Given the description of an element on the screen output the (x, y) to click on. 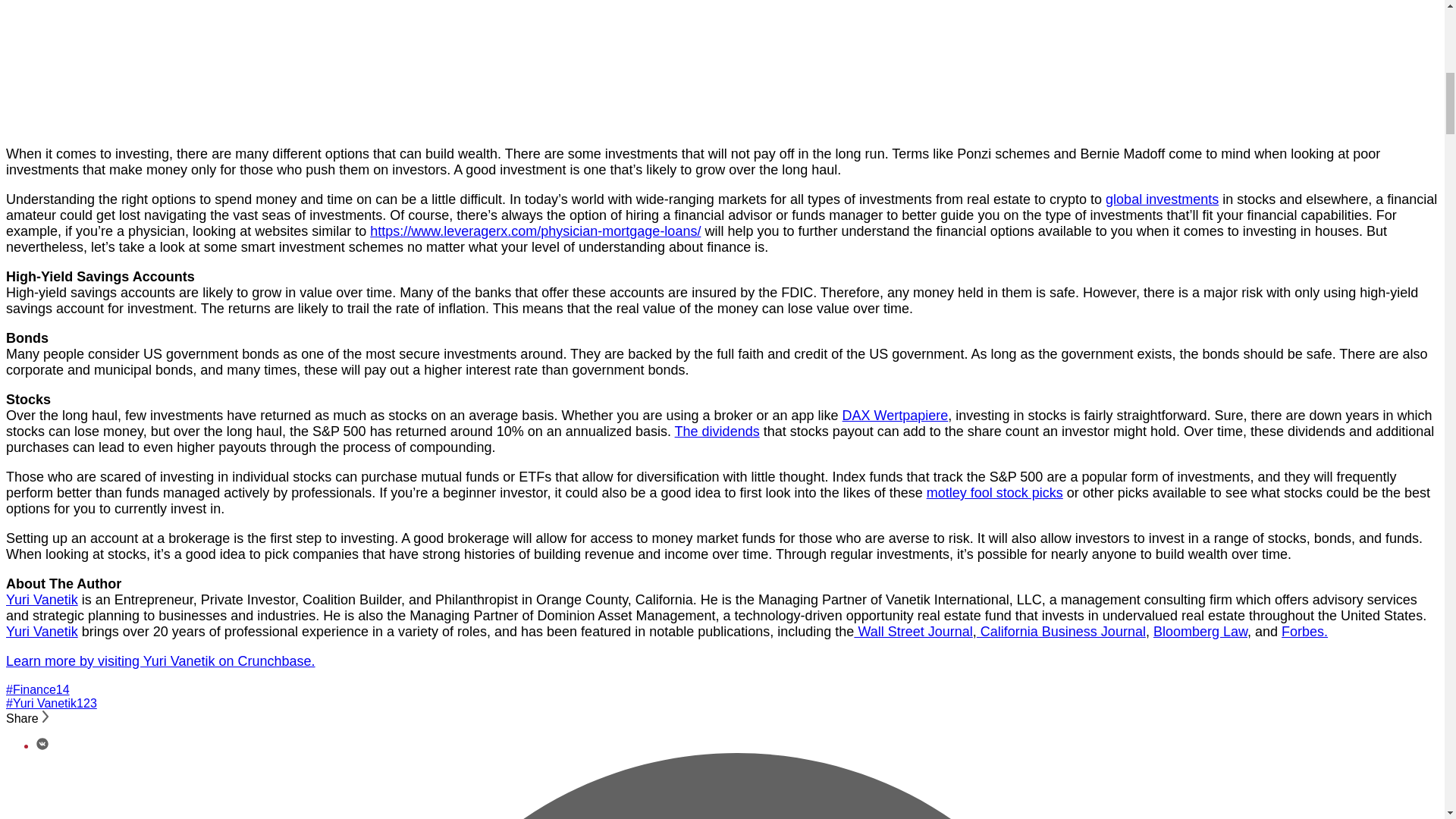
Yuri Vanetik (41, 599)
global investments (1161, 199)
Yuri Vanetik (41, 631)
The dividends (717, 431)
motley fool stock picks (994, 492)
Wall Street Journal (912, 631)
VKontakte (42, 745)
DAX Wertpapiere (896, 415)
